Given the description of an element on the screen output the (x, y) to click on. 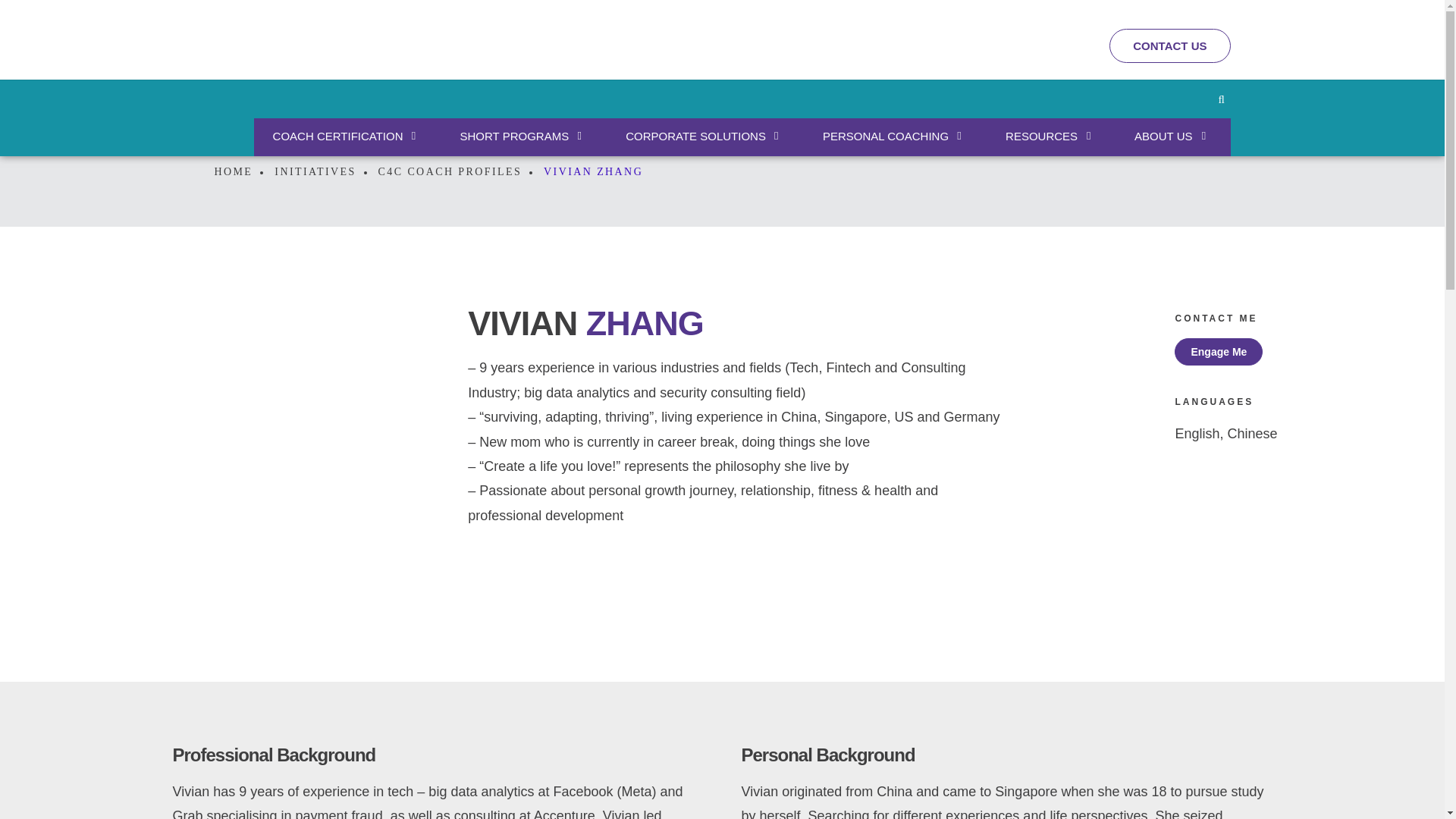
CONTACT US (1169, 45)
PERSONAL COACHING (886, 136)
CORPORATE SOLUTIONS (696, 136)
COACH CERTIFICATION (339, 136)
SHORT PROGRAMS (516, 136)
